Given the description of an element on the screen output the (x, y) to click on. 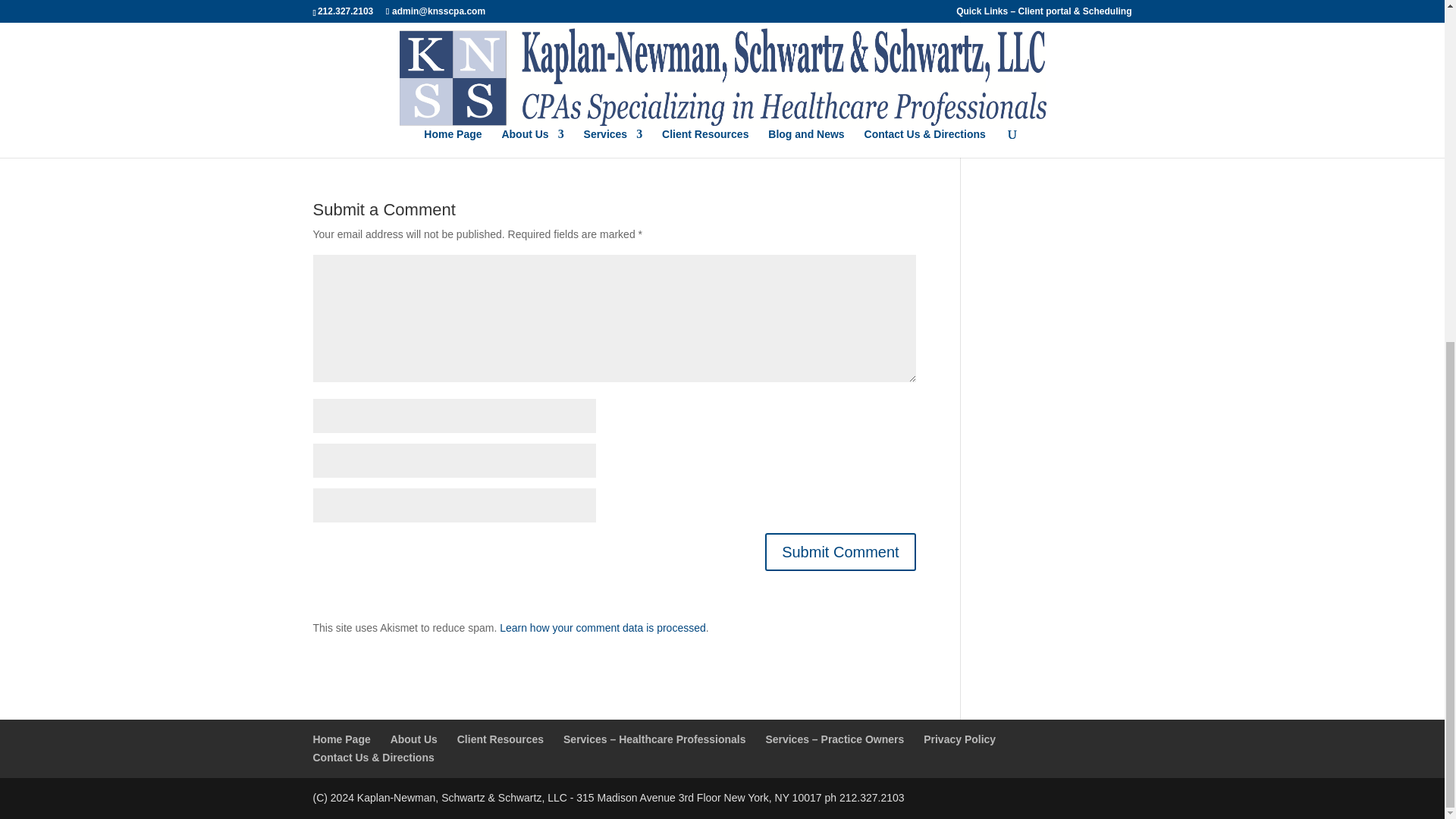
Serving in a combat zone or a qualified hazardous duty area (510, 28)
Electronic Federal Tax Payment System (561, 104)
Learn how your comment data is processed (602, 627)
Direct Pay (417, 104)
Submit Comment (840, 551)
Living outside the United States (443, 57)
credit or debit card (777, 104)
Submit Comment (840, 551)
